Given the description of an element on the screen output the (x, y) to click on. 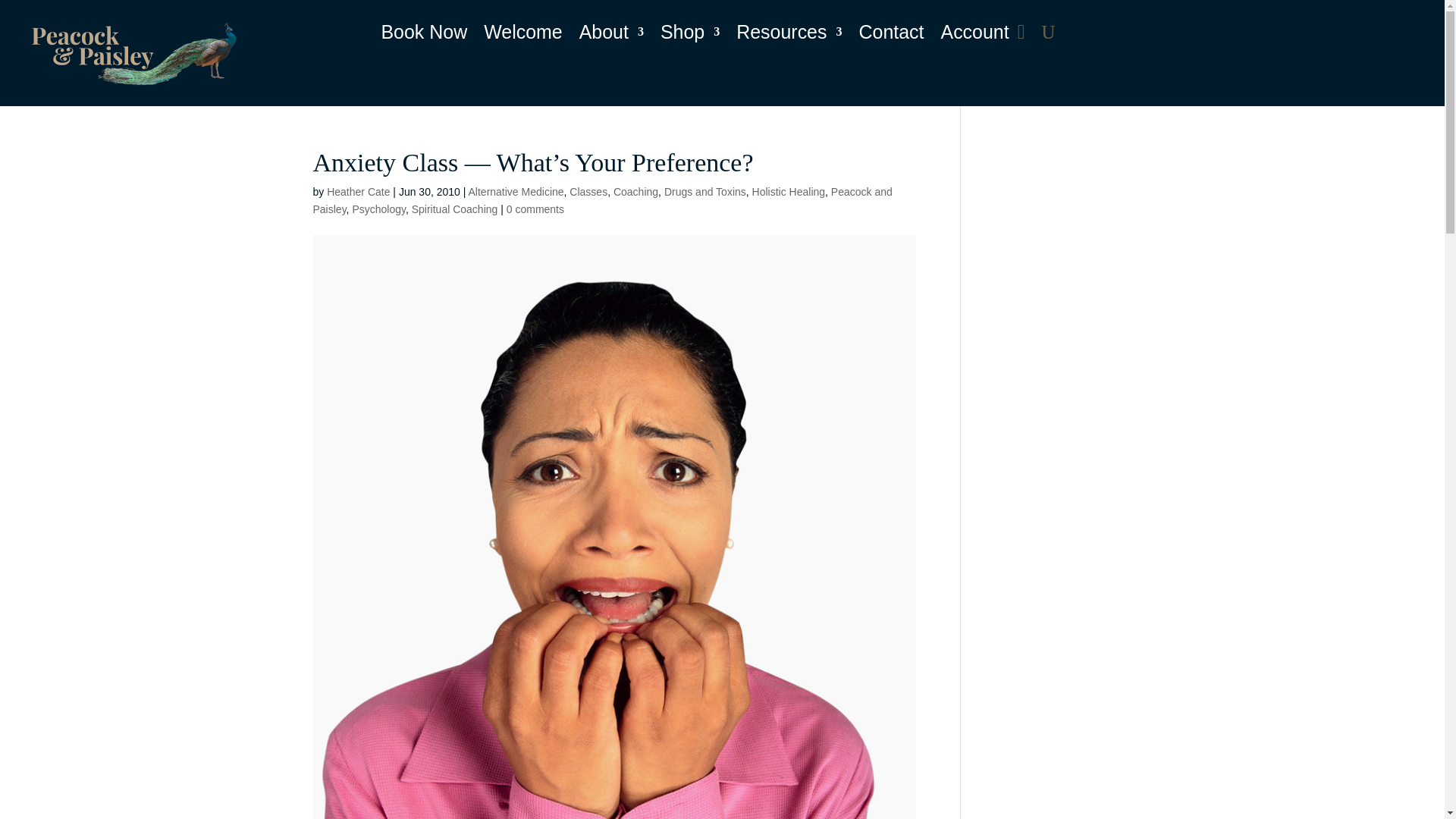
Welcome (522, 35)
Contact (891, 35)
About (611, 35)
Resources (788, 35)
Posts by Heather Cate (358, 191)
Shop (690, 35)
Book Now (423, 35)
Account (974, 35)
